Given the description of an element on the screen output the (x, y) to click on. 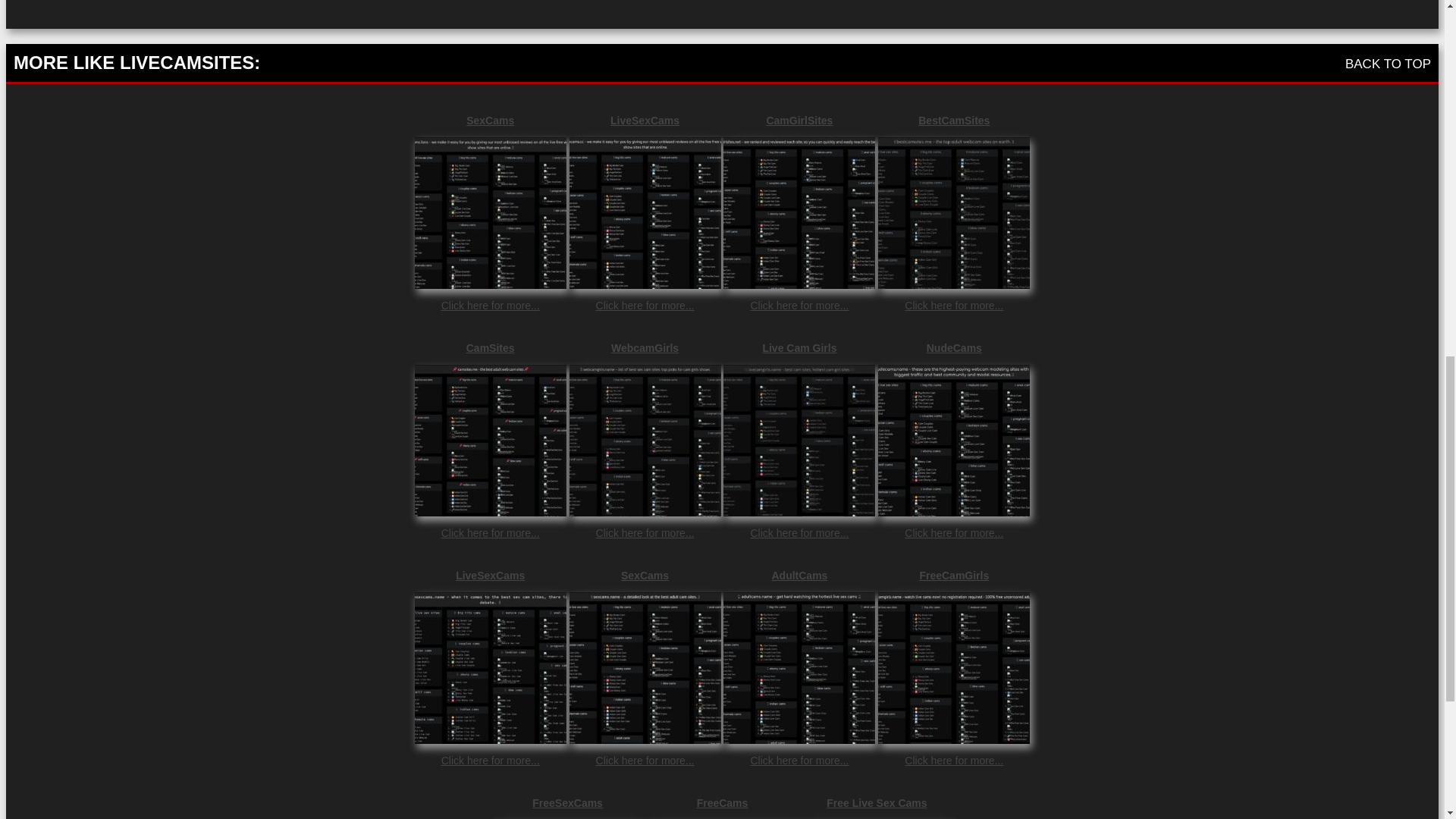
Click here for more... (644, 305)
SexCams (490, 120)
BACK TO TOP (1388, 63)
Click here for more... (490, 532)
FreeCamGirls (953, 575)
Click here for more... (798, 760)
AdultCams (799, 575)
NudeCams (953, 347)
SexCams (644, 575)
Click here for more... (490, 305)
Click here for more... (953, 305)
Live Cam Girls (799, 347)
LiveSexCams (644, 120)
Click here for more... (644, 760)
Click here for more... (490, 760)
